Given the description of an element on the screen output the (x, y) to click on. 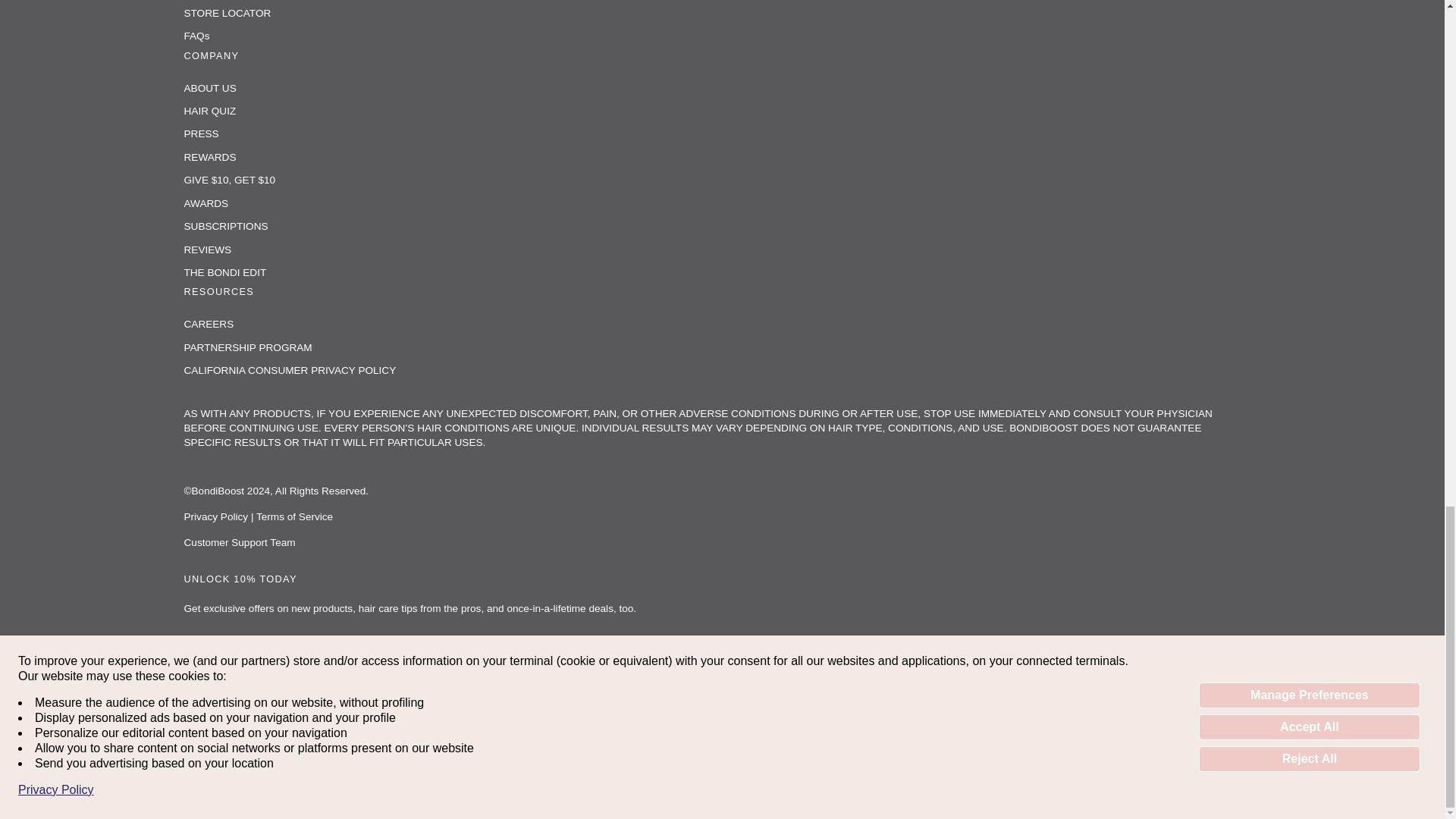
Diners Club (569, 757)
BondiBoost.com on Instagram (238, 690)
Shop Pay (808, 757)
Meta Pay (648, 757)
Google Pay (687, 757)
American Express (489, 757)
BondiBoost.com on Tumblr (275, 690)
Mastercard (728, 757)
Apple Pay (529, 757)
Terms Of Use (294, 516)
BondiBoost.com on Facebook (197, 690)
PayPal (767, 757)
Discover (609, 757)
Privacy (215, 516)
Venmo (847, 757)
